Given the description of an element on the screen output the (x, y) to click on. 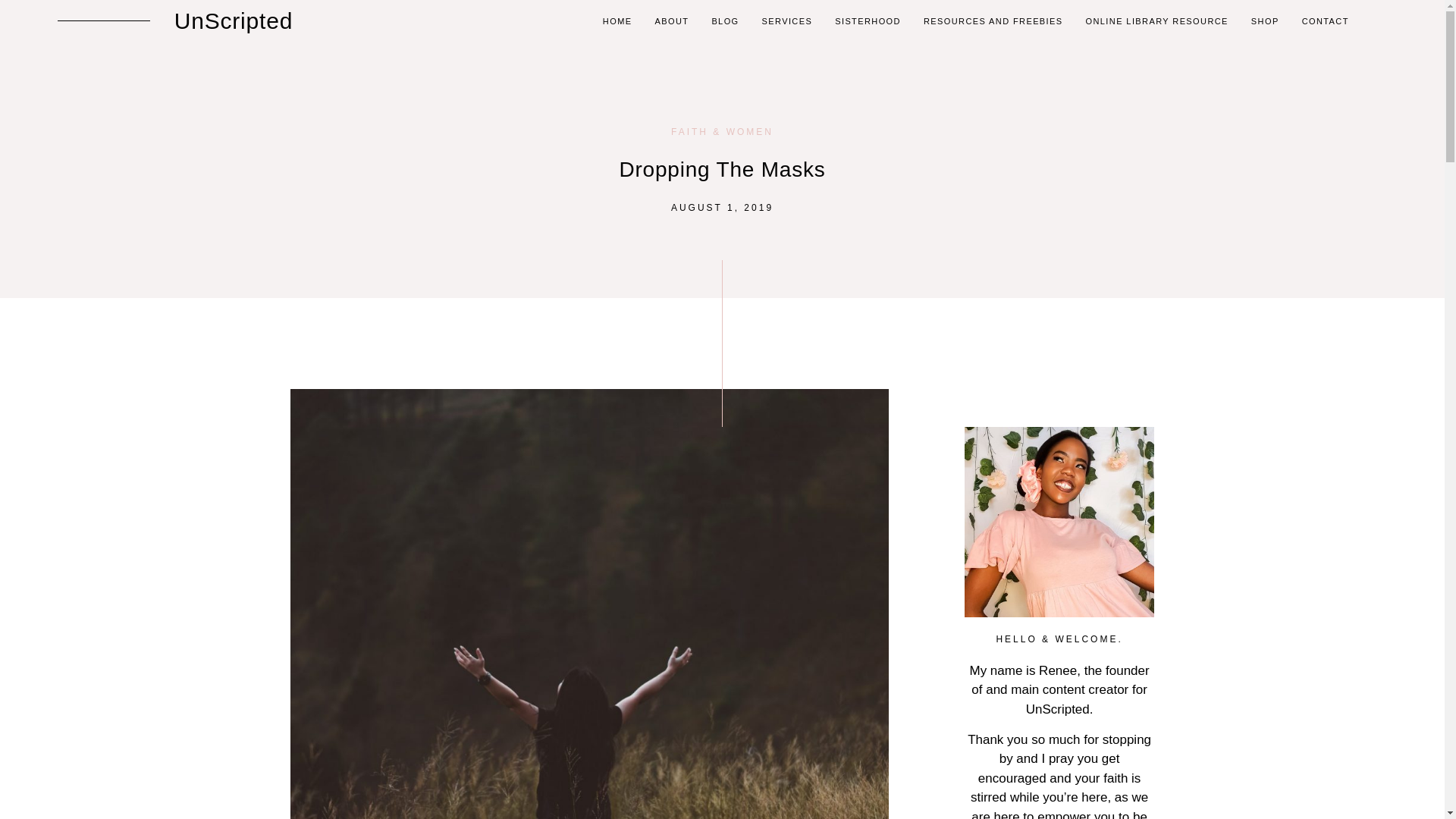
SHOP (1264, 20)
HOME (616, 20)
AUGUST 1, 2019 (722, 207)
UnScripted (233, 20)
SERVICES (786, 20)
ONLINE LIBRARY RESOURCE (1157, 20)
RESOURCES AND FREEBIES (992, 20)
CONTACT (1325, 20)
BLOG (724, 20)
SISTERHOOD (867, 20)
ABOUT (670, 20)
